Given the description of an element on the screen output the (x, y) to click on. 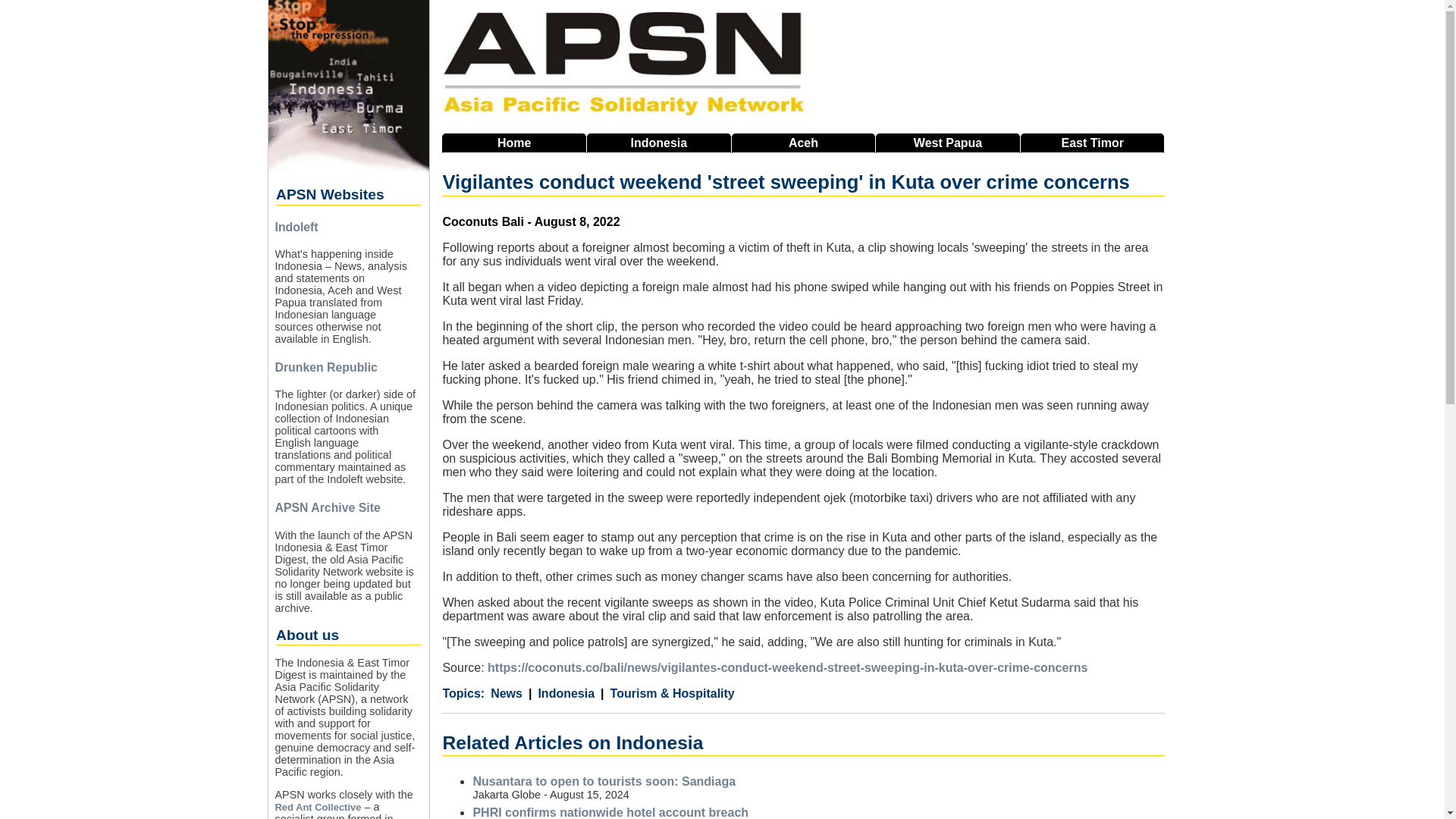
Nusantara to open to tourists soon: Sandiaga (603, 780)
News (506, 694)
Indoleft (296, 226)
Drunken Republic (326, 367)
Indonesia (561, 694)
Indonesia (658, 143)
Home (514, 143)
East Timor (1092, 143)
Aceh (804, 143)
PHRI confirms nationwide hotel account breach (609, 812)
